Given the description of an element on the screen output the (x, y) to click on. 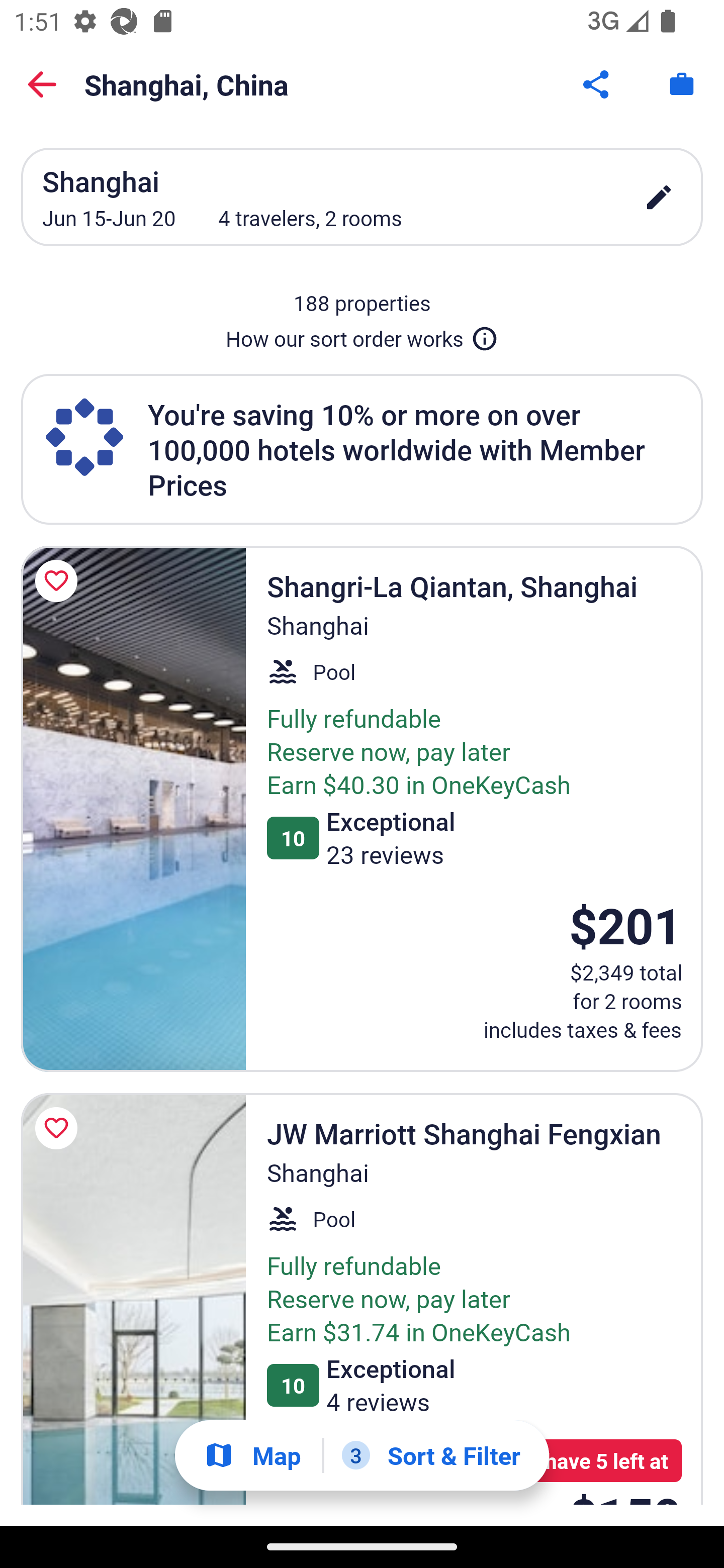
Back (42, 84)
Share Button (597, 84)
Trips. Button (681, 84)
Shanghai Jun 15-Jun 20 4 travelers, 2 rooms edit (361, 196)
How our sort order works (361, 334)
Save Shangri-La Qiantan, Shanghai to a trip (59, 580)
Shangri-La Qiantan, Shanghai (133, 808)
Save JW Marriott Shanghai Fengxian to a trip (59, 1127)
JW Marriott Shanghai Fengxian (133, 1298)
3 Sort & Filter 3 Filters applied. Filters Button (430, 1455)
Show map Map Show map Button (252, 1455)
